Given the description of an element on the screen output the (x, y) to click on. 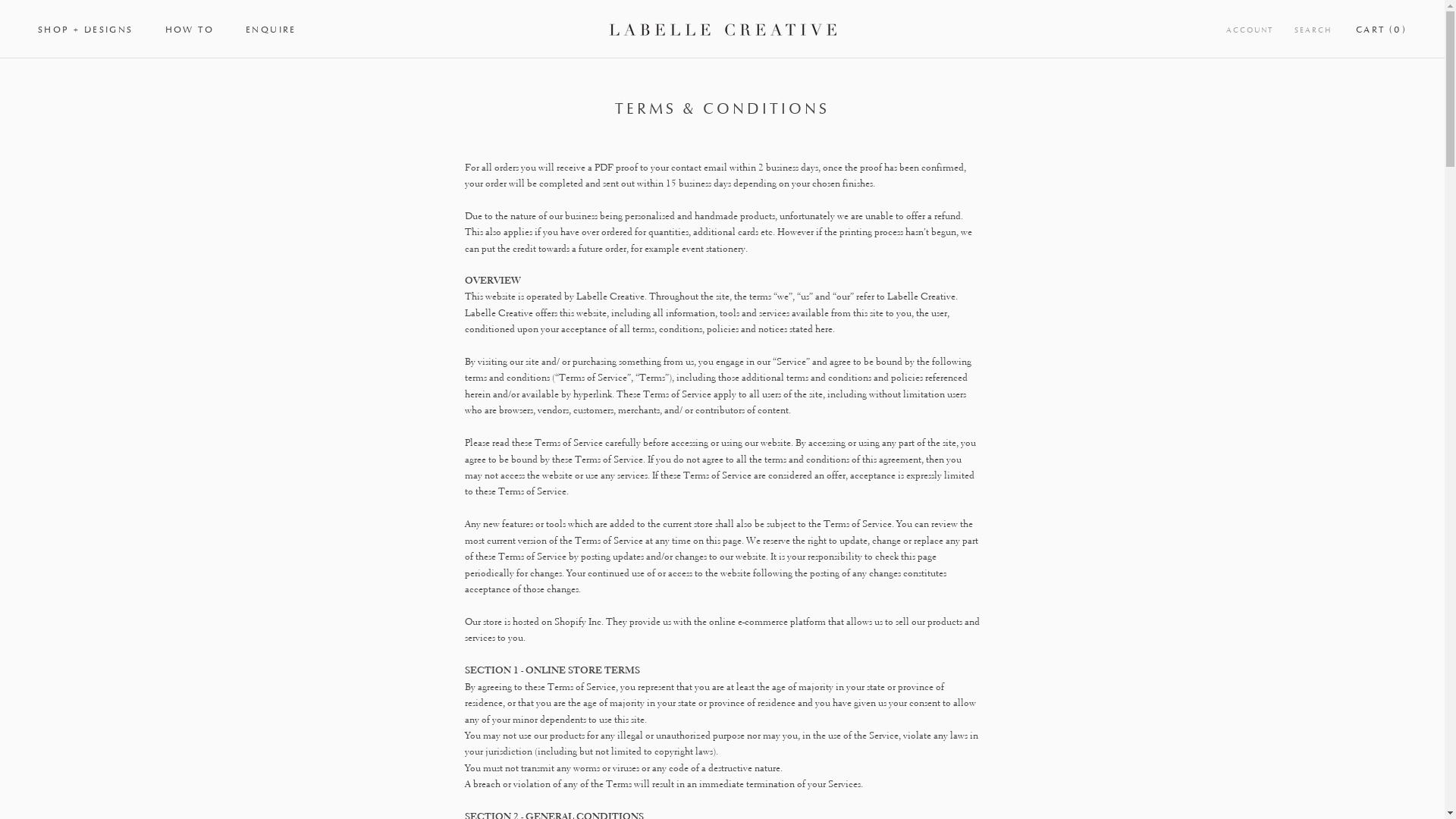
ACCOUNT Element type: text (1249, 30)
ENQUIRE
ENQUIRE Element type: text (270, 29)
SEARCH Element type: text (1313, 30)
HOW TO
HOW TO Element type: text (189, 29)
SHOP + DESIGNS
SHOP + DESIGNS Element type: text (85, 29)
CART (0) Element type: text (1380, 29)
